Given the description of an element on the screen output the (x, y) to click on. 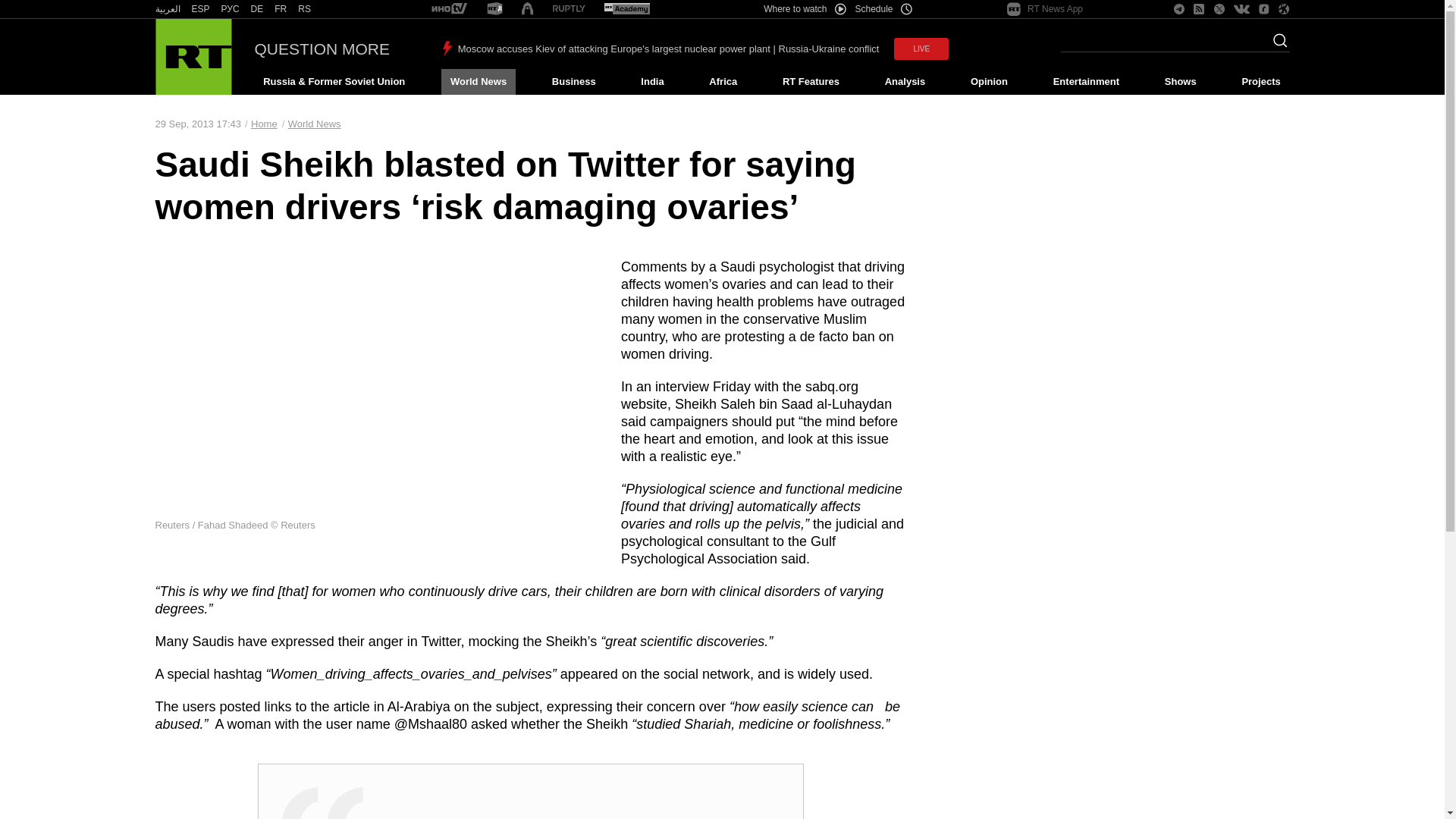
World News (478, 81)
Projects (1261, 81)
DE (256, 9)
RT  (494, 9)
Search (1276, 44)
RT News App (1045, 9)
India (651, 81)
Search (1276, 44)
Entertainment (1085, 81)
Business (573, 81)
